Given the description of an element on the screen output the (x, y) to click on. 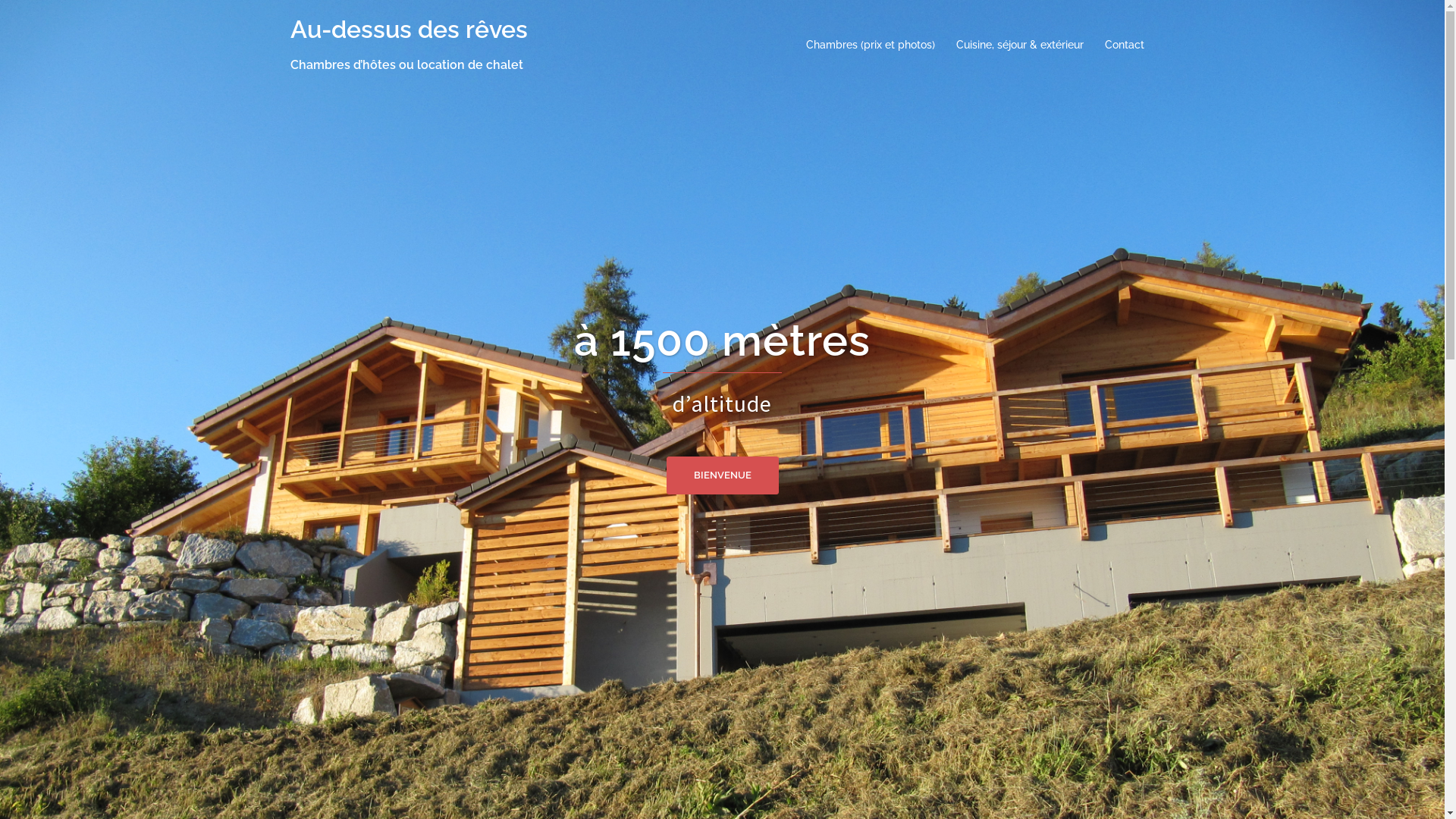
Aller au contenu Element type: text (0, 0)
Contact Element type: text (1123, 45)
BIENVENUE Element type: text (721, 475)
Chambres (prix et photos) Element type: text (869, 45)
